Given the description of an element on the screen output the (x, y) to click on. 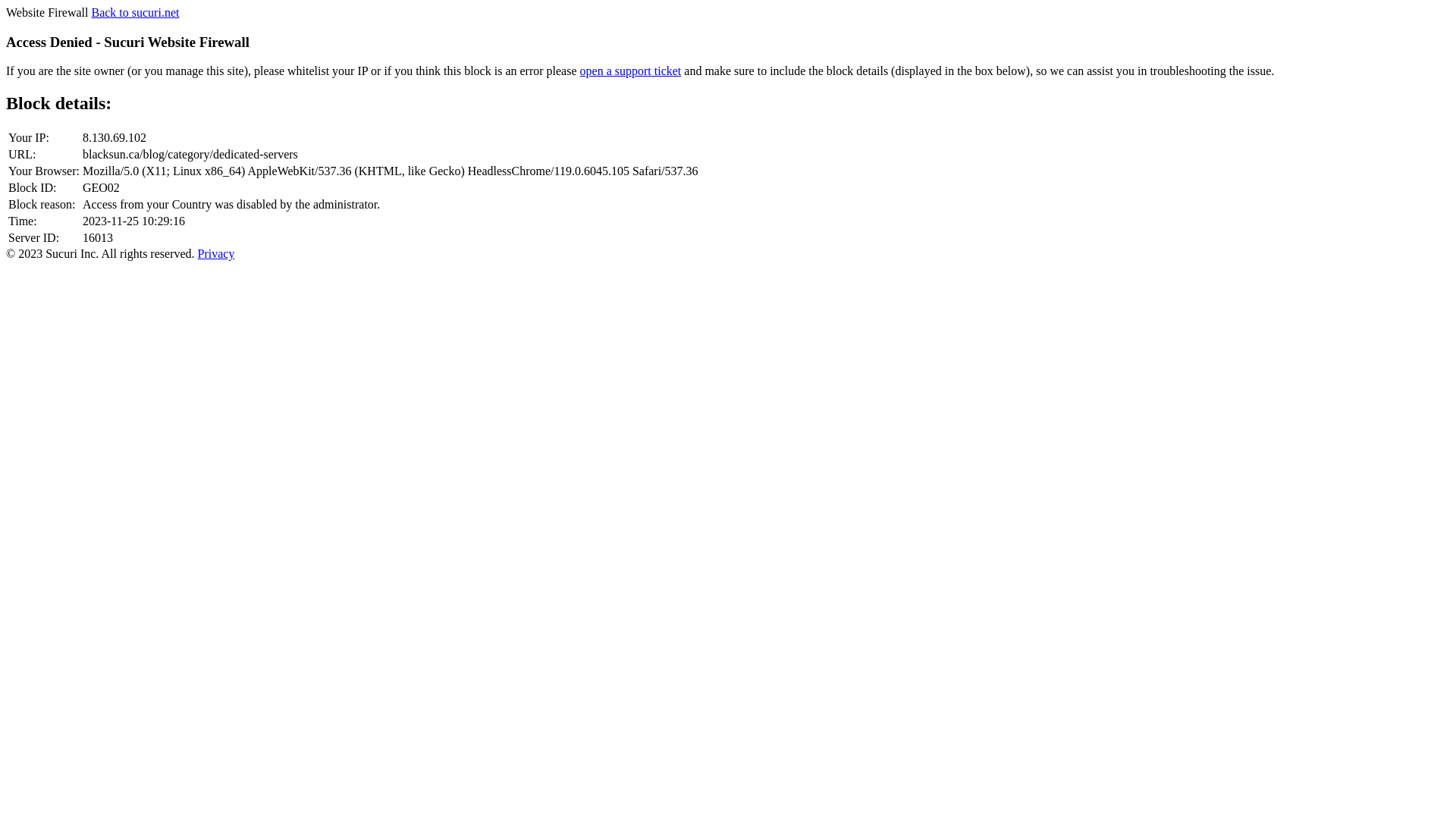
Back to sucuri.net Element type: text (134, 12)
open a support ticket Element type: text (630, 70)
Privacy Element type: text (216, 253)
